Given the description of an element on the screen output the (x, y) to click on. 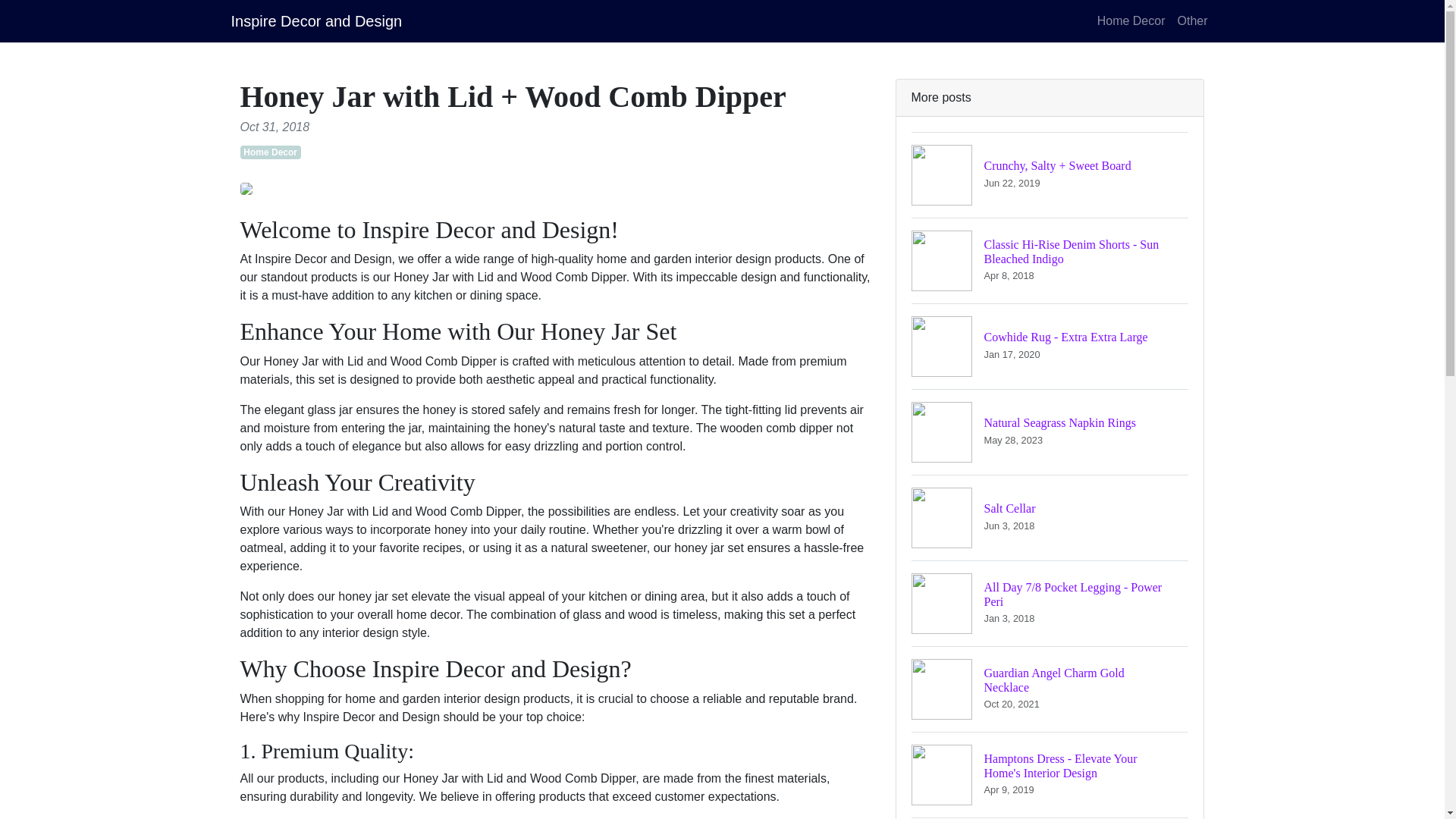
Other (1050, 346)
Inspire Decor and Design (1050, 689)
Home Decor (1050, 432)
Home Decor (1191, 20)
